Given the description of an element on the screen output the (x, y) to click on. 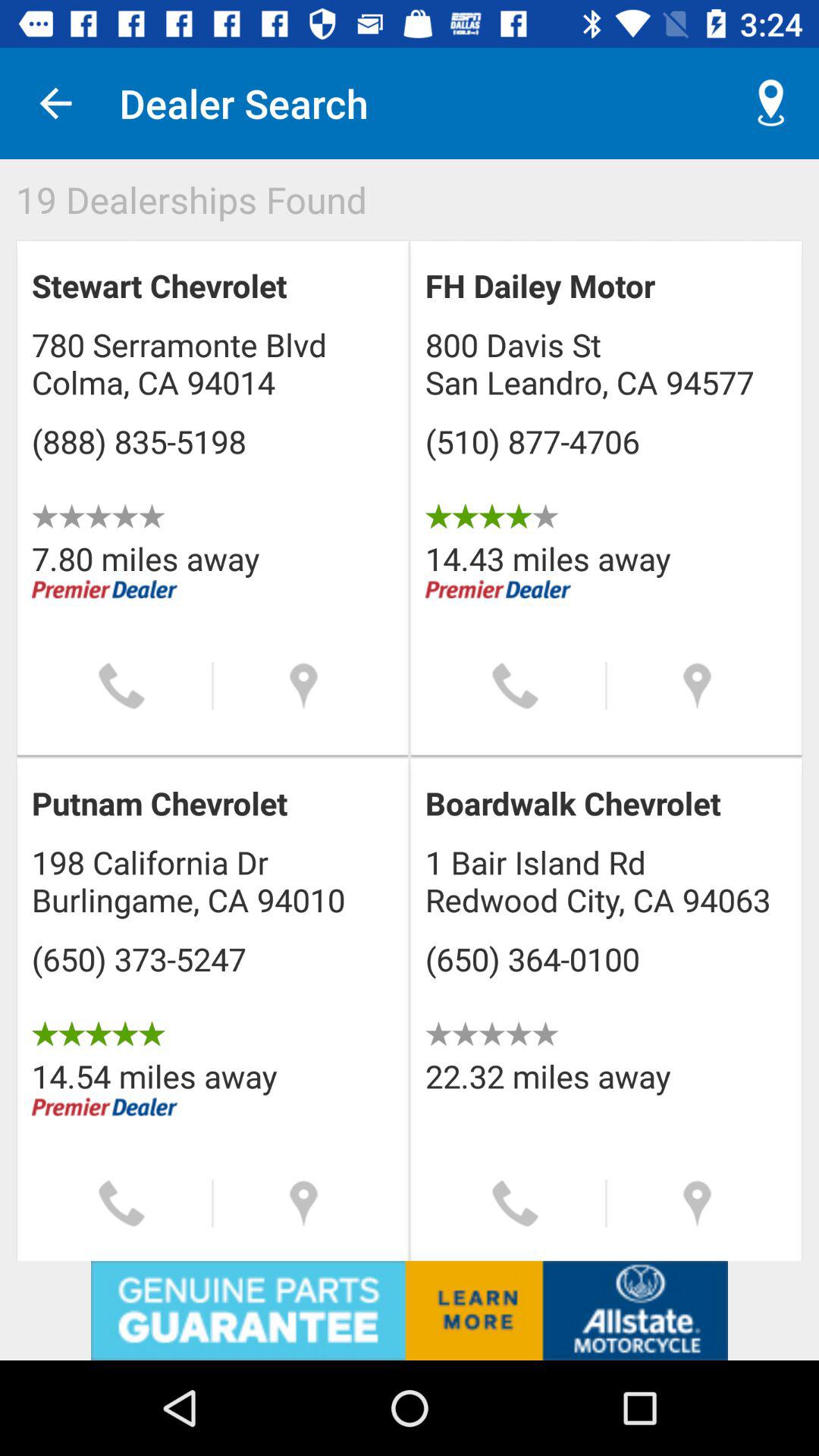
call button (121, 685)
